Given the description of an element on the screen output the (x, y) to click on. 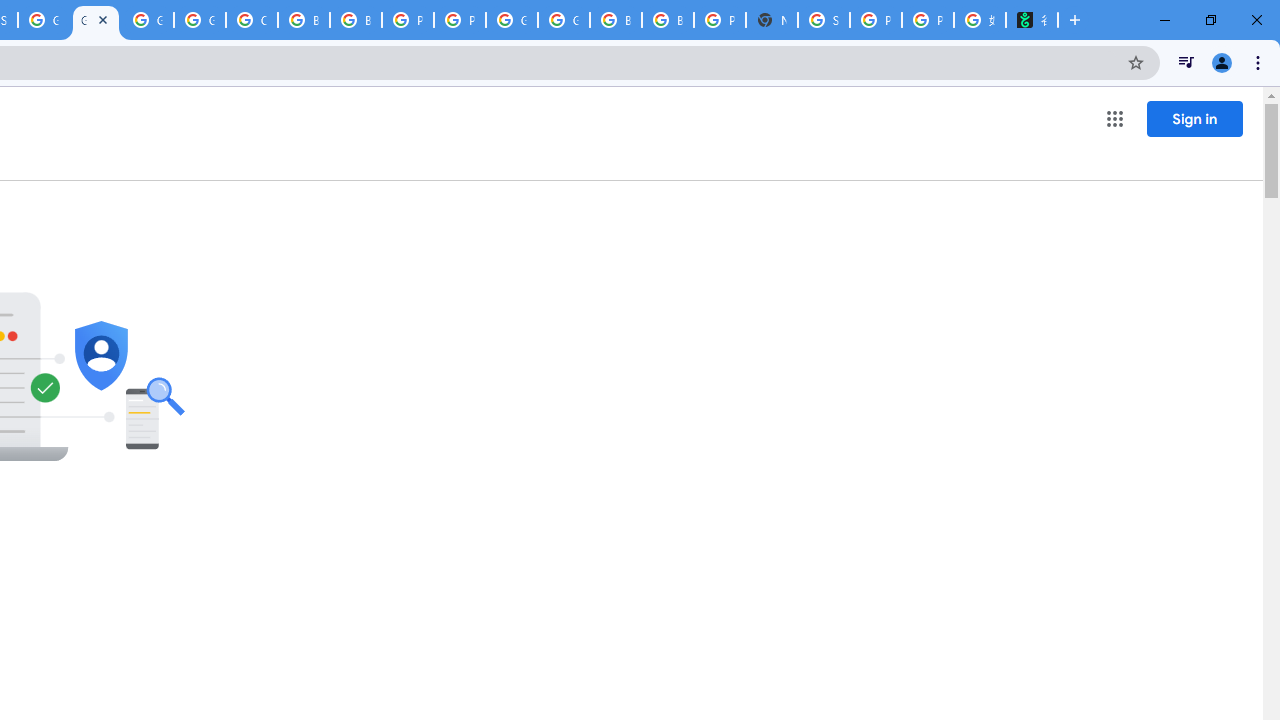
Browse Chrome as a guest - Computer - Google Chrome Help (303, 20)
Google Cloud Platform (563, 20)
